Given the description of an element on the screen output the (x, y) to click on. 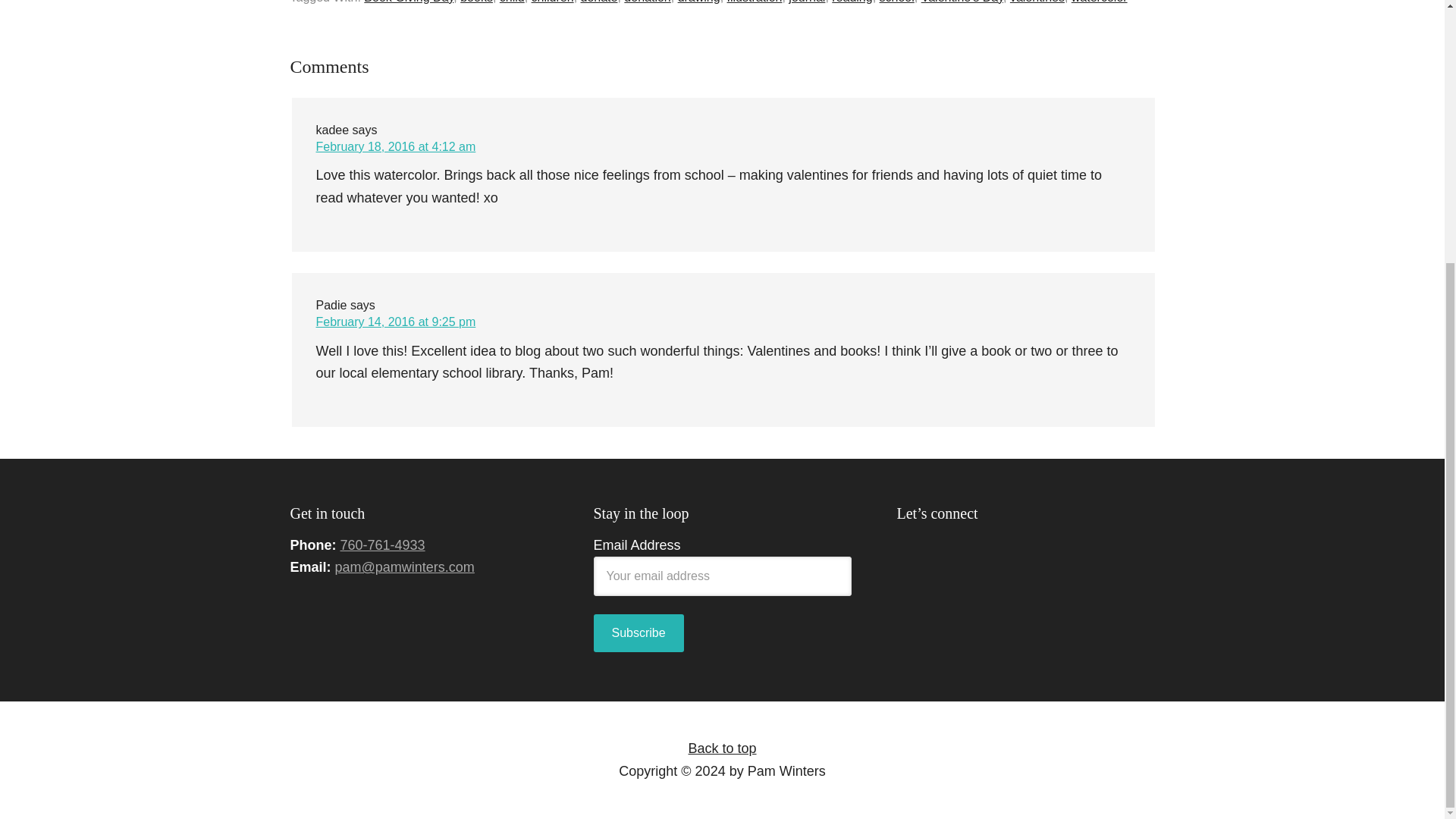
children (552, 2)
valentines (1037, 2)
Valentine's Day (962, 2)
Subscribe (637, 632)
school (896, 2)
donation (646, 2)
journal (807, 2)
books (476, 2)
child (511, 2)
drawing (699, 2)
